Given the description of an element on the screen output the (x, y) to click on. 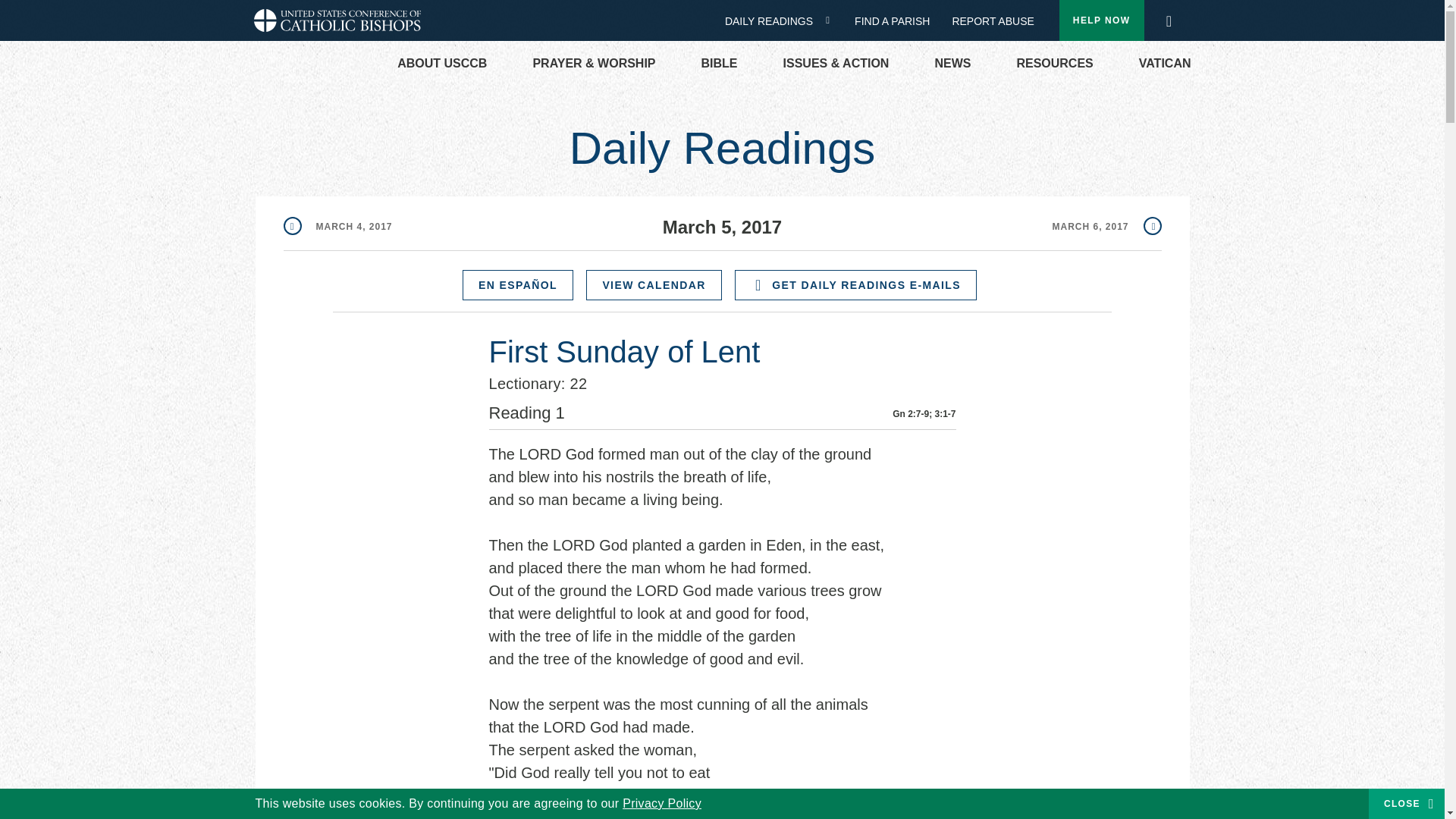
FIND A PARISH (897, 20)
Link list for Vatican website (1165, 62)
REPORT ABUSE (992, 20)
HELP NOW (1101, 20)
Search (1168, 16)
DAILY READINGS (774, 20)
DAILY READINGS CALENDAR (832, 20)
Go (1173, 21)
